Given the description of an element on the screen output the (x, y) to click on. 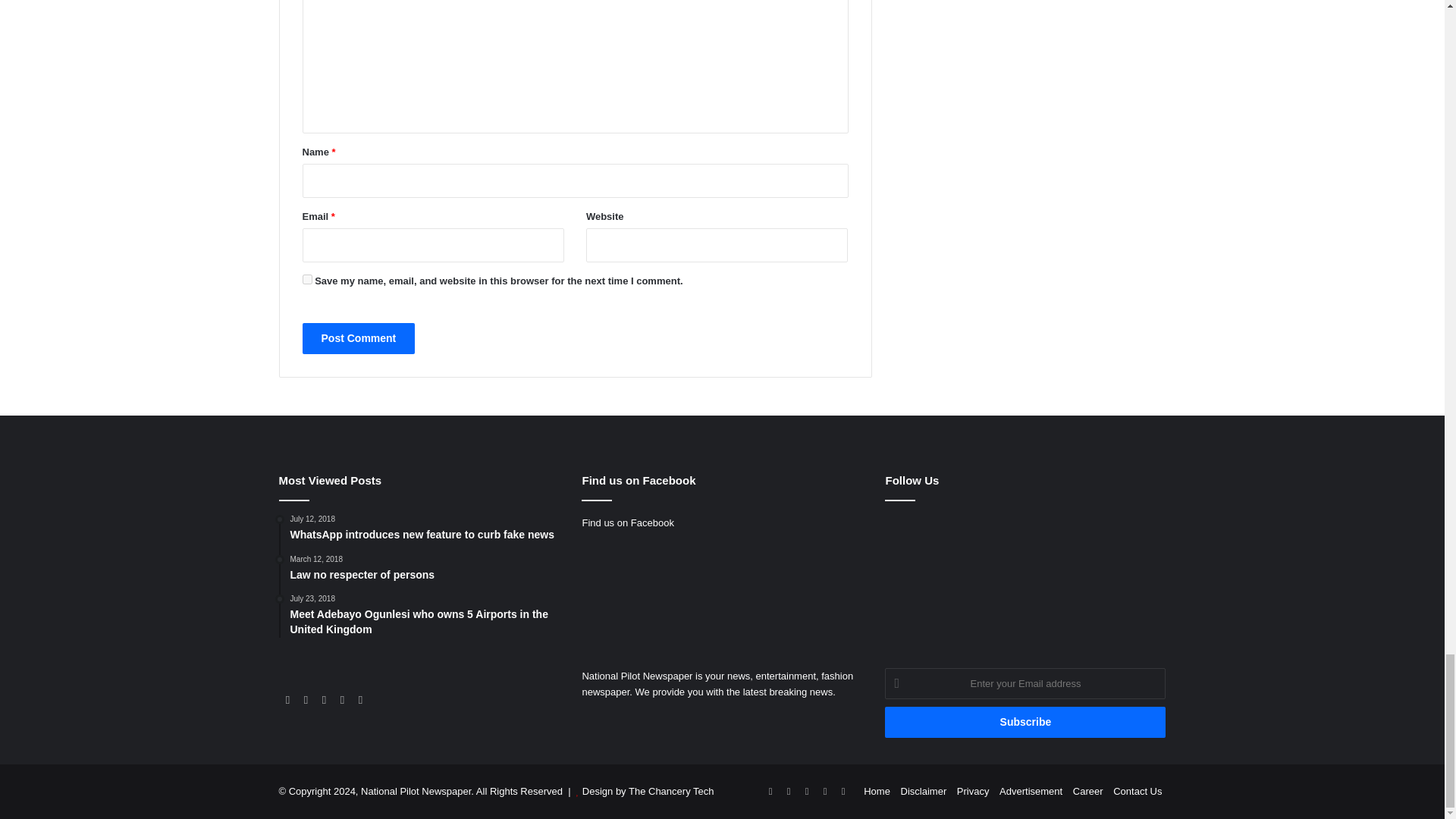
yes (306, 279)
Post Comment (357, 337)
Subscribe (1025, 721)
